Given the description of an element on the screen output the (x, y) to click on. 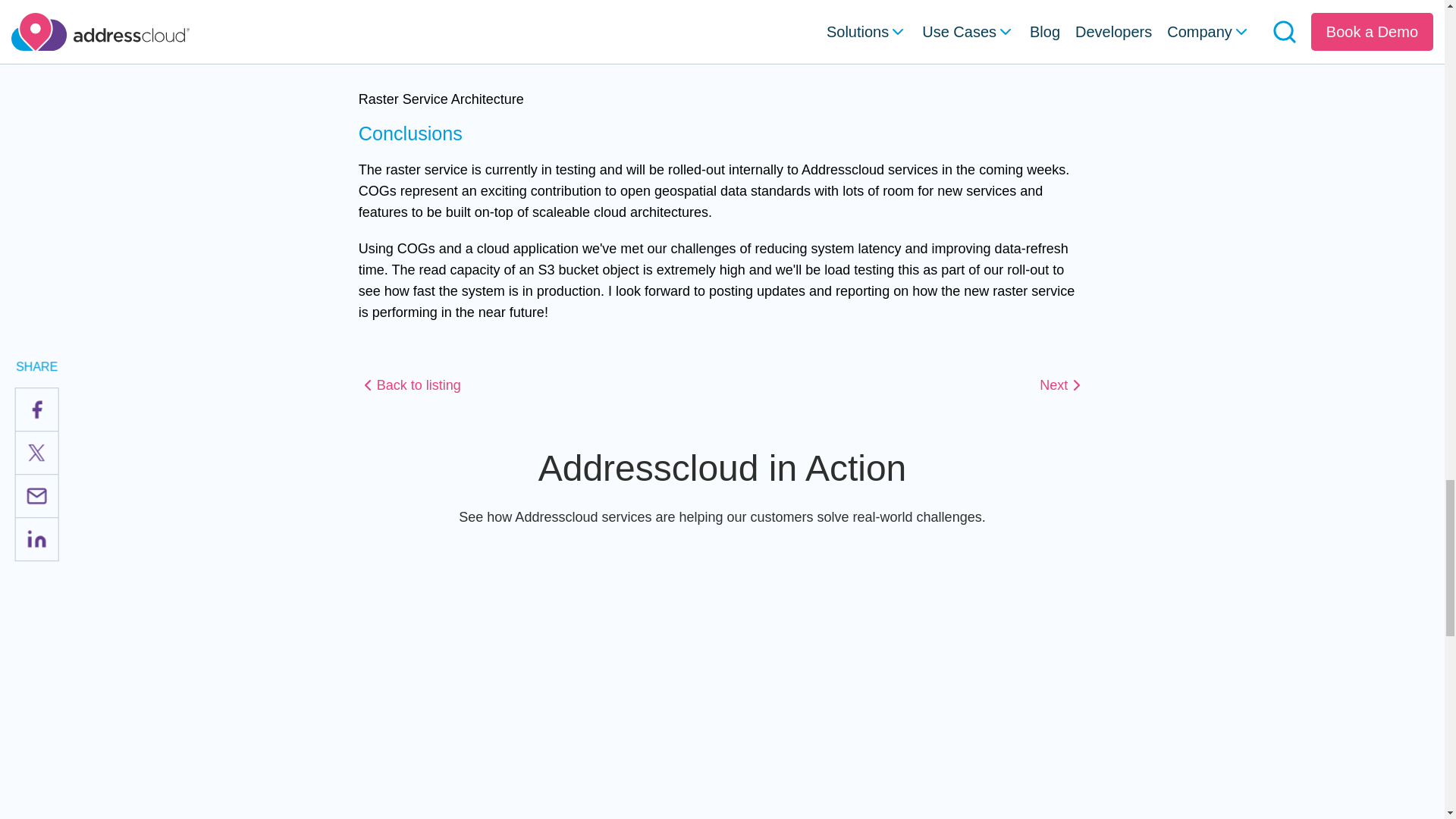
Back to listing (409, 384)
Next (1062, 384)
